Given the description of an element on the screen output the (x, y) to click on. 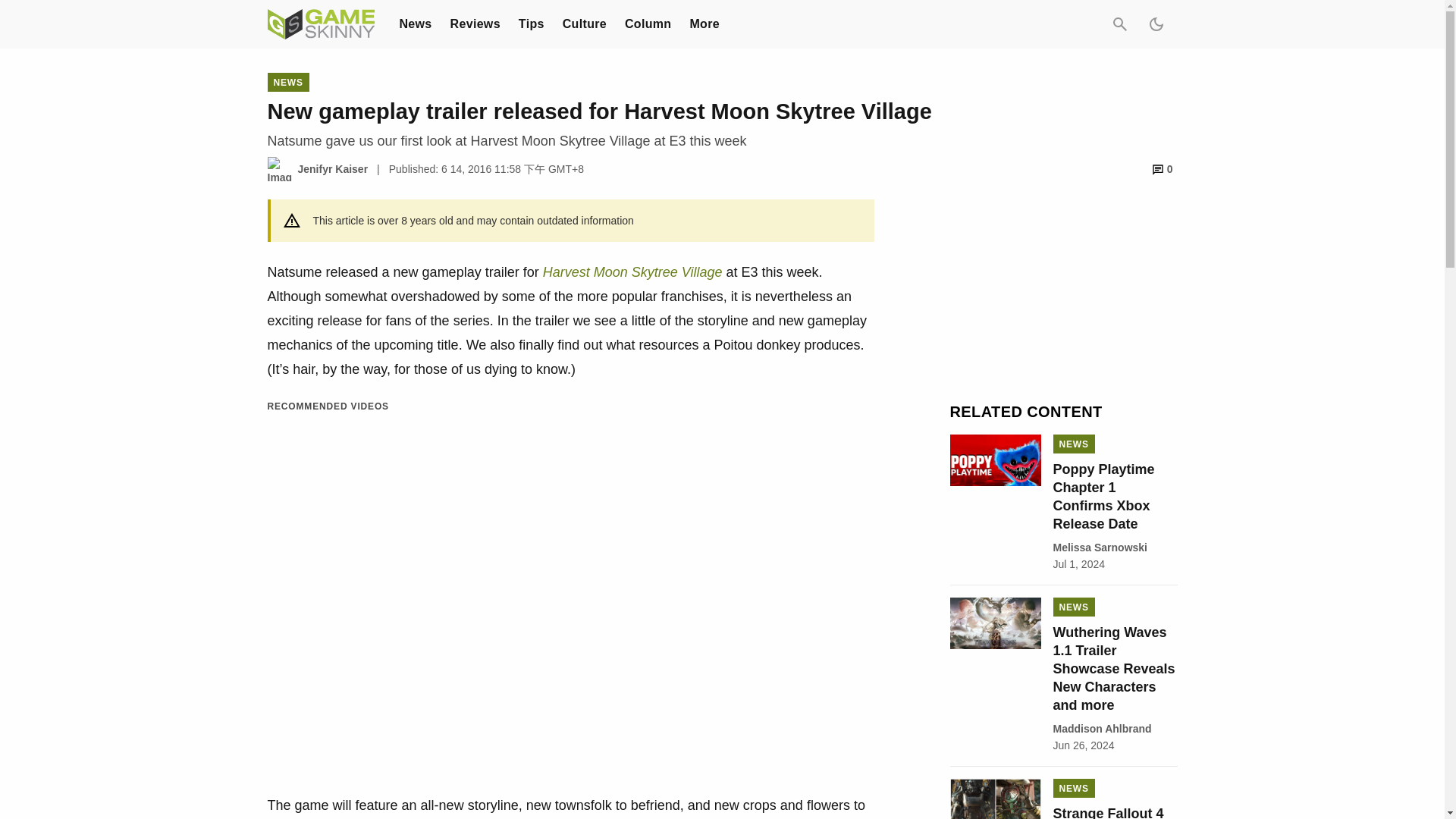
Search (1118, 24)
Culture (584, 23)
Dark Mode (1155, 24)
Tips (531, 23)
News (414, 23)
Reviews (474, 23)
Column (647, 23)
